Given the description of an element on the screen output the (x, y) to click on. 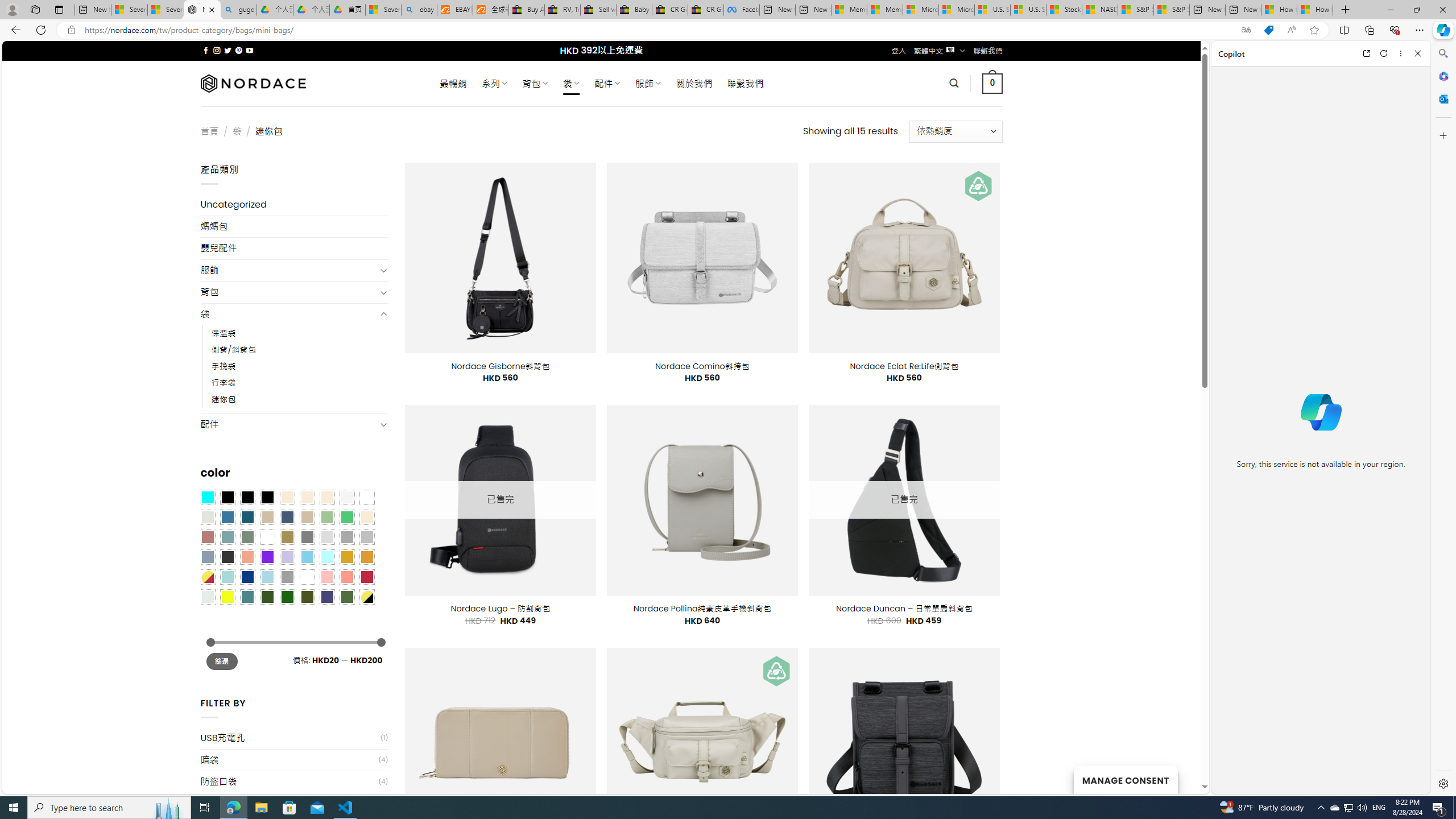
ebay - Search (419, 9)
Close tab (211, 9)
Add this page to favorites (Ctrl+D) (1314, 29)
guge yunpan - Search (238, 9)
Uncategorized (294, 204)
Follow on Facebook (205, 50)
